Given the description of an element on the screen output the (x, y) to click on. 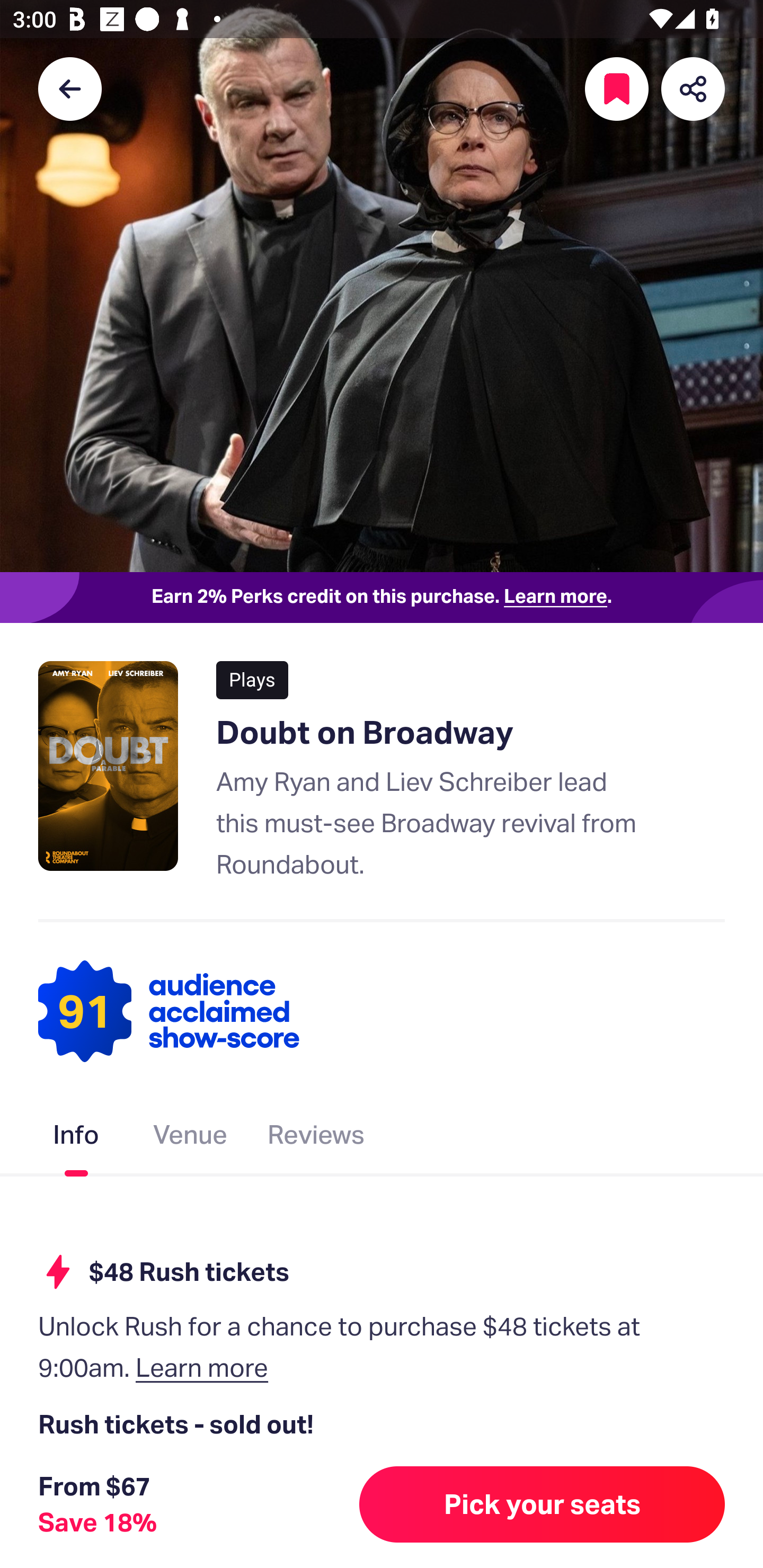
Earn 2% Perks credit on this purchase. Learn more. (381, 597)
Venue (190, 1138)
Reviews (315, 1138)
Pick your seats (541, 1504)
Unlock now (328, 1514)
